Given the description of an element on the screen output the (x, y) to click on. 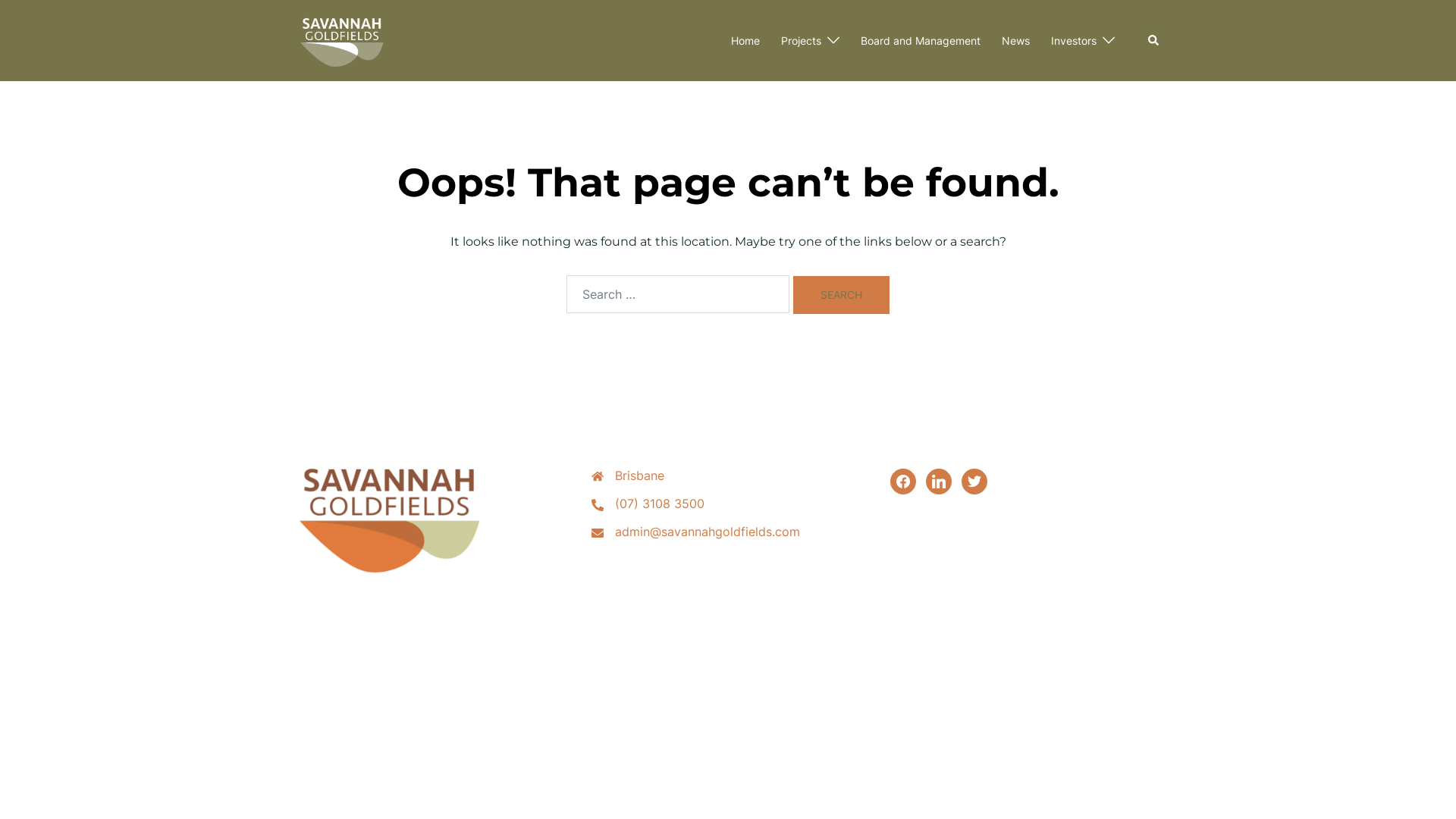
Investors Element type: text (1073, 40)
admin@savannahgoldfields.com Element type: text (707, 531)
News Element type: text (1015, 40)
Search Element type: text (1154, 40)
Savannah Goldfields Element type: hover (341, 39)
Board and Management Element type: text (920, 40)
facebook Element type: text (903, 480)
linkedin Element type: text (938, 480)
twitter Element type: text (974, 480)
Home Element type: text (745, 40)
Projects Element type: text (801, 40)
Search Element type: text (841, 294)
